Given the description of an element on the screen output the (x, y) to click on. 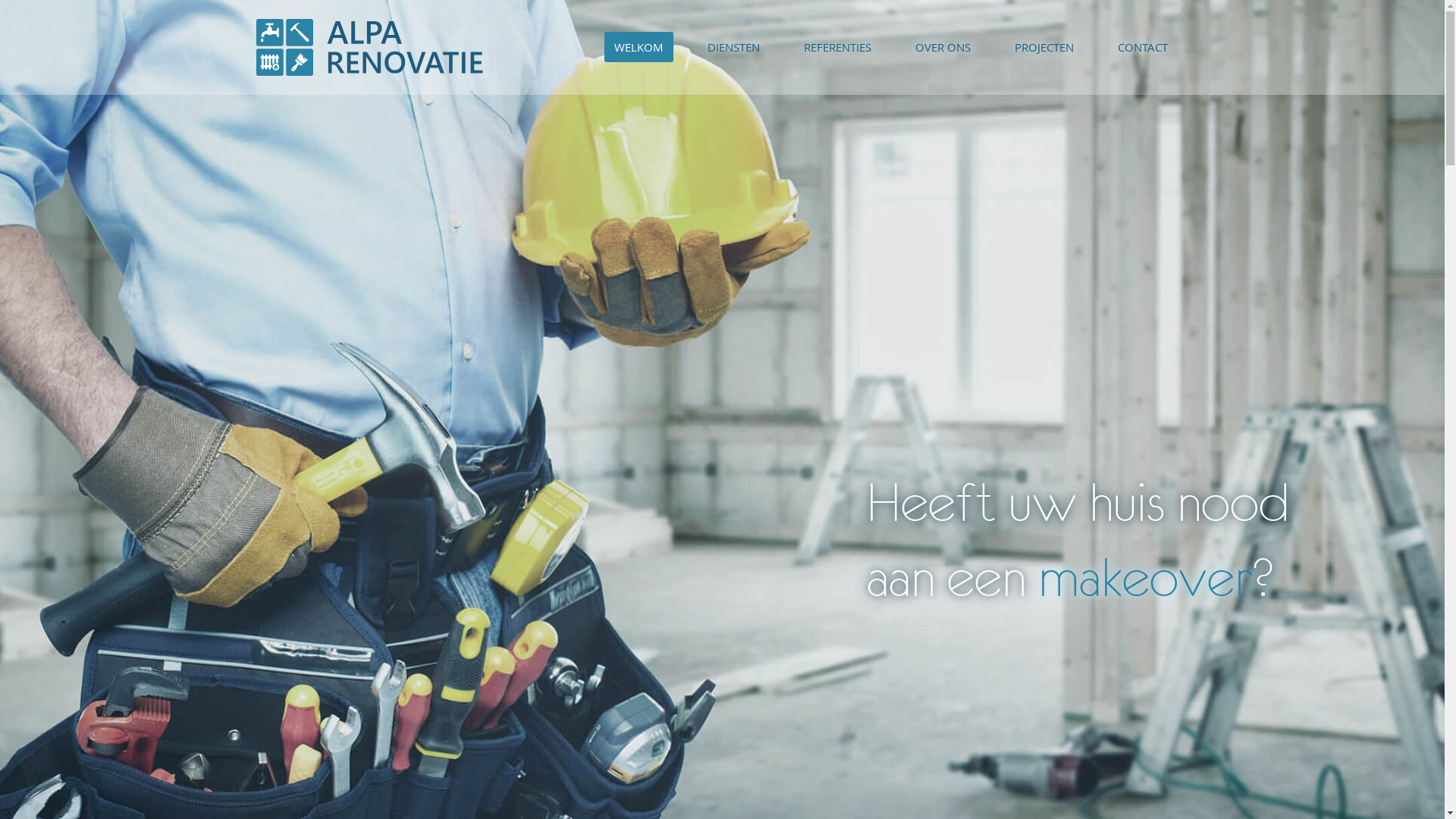
DIENSTEN Element type: text (733, 46)
REFERENTIES Element type: text (837, 46)
CONTACT Element type: text (1142, 46)
WELKOM Element type: text (638, 46)
Welkom Element type: hover (369, 46)
OVER ONS Element type: text (942, 46)
PROJECTEN Element type: text (1043, 46)
